Given the description of an element on the screen output the (x, y) to click on. 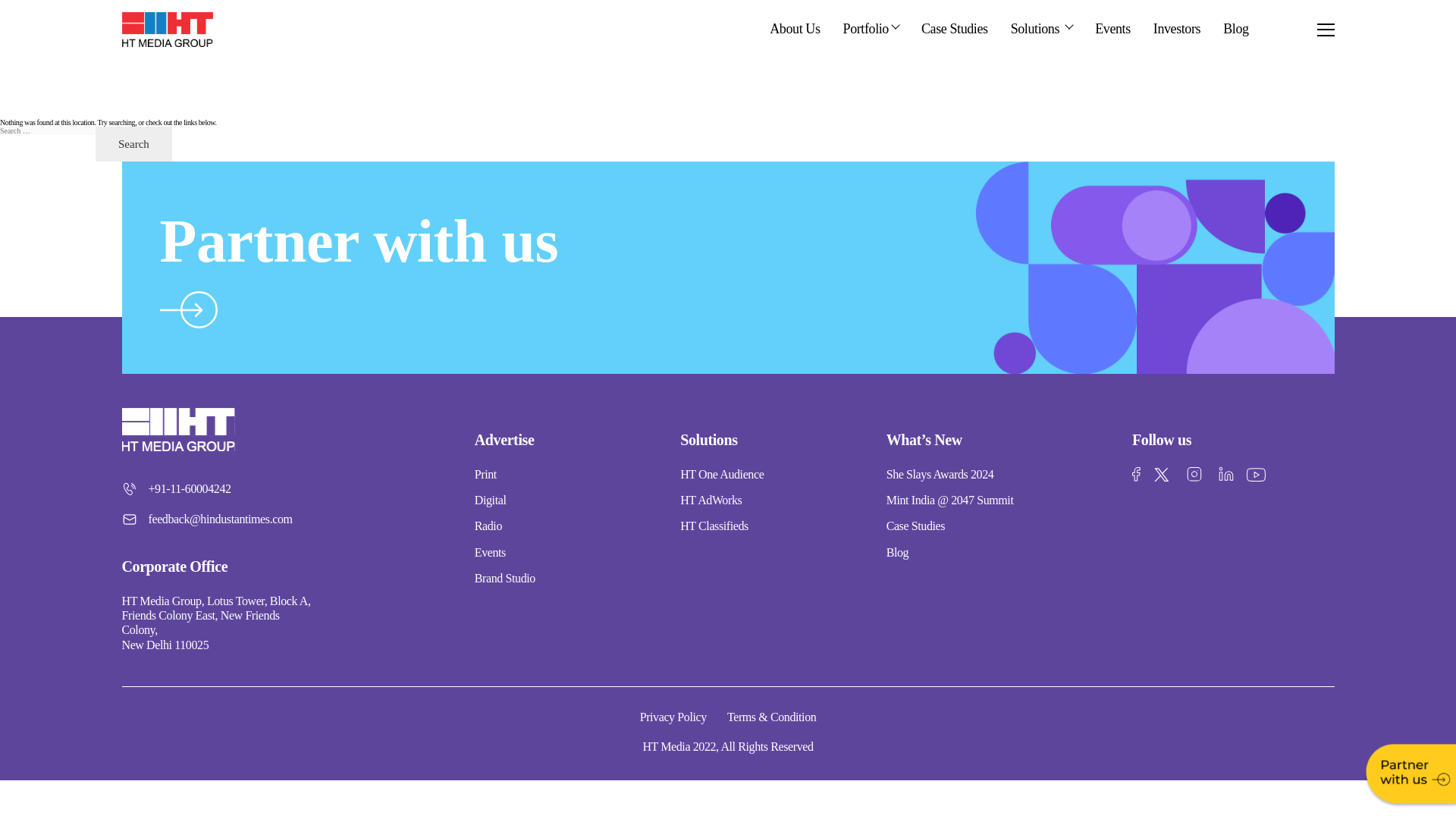
Blog (1235, 29)
Case Studies (954, 29)
Search (133, 143)
Solutions (1038, 28)
Search (133, 143)
Portfolio (867, 28)
Events (1112, 29)
Investors (1176, 29)
About Us (794, 29)
